Given the description of an element on the screen output the (x, y) to click on. 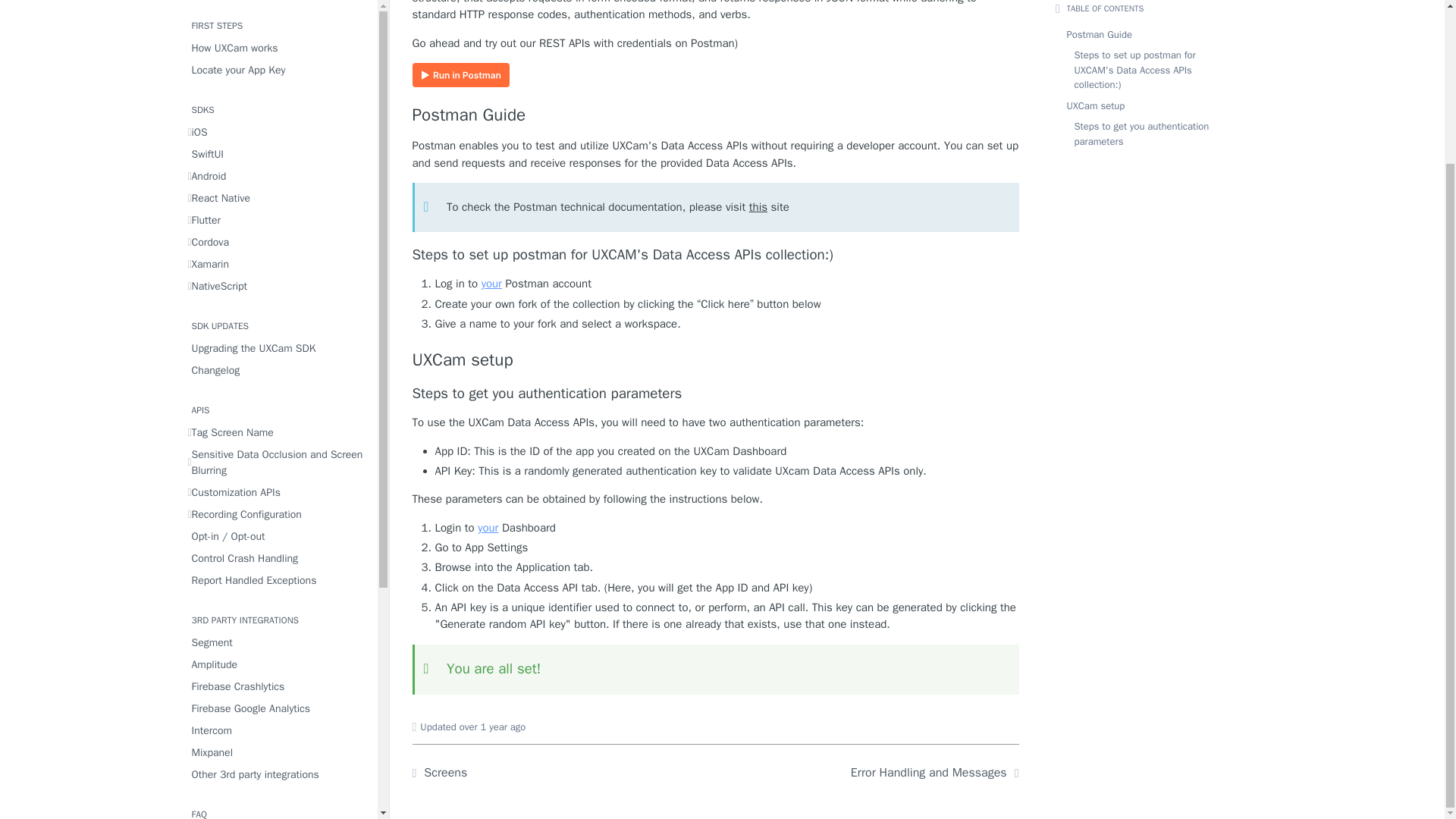
UXCam setup (715, 360)
Flutter (277, 95)
React Native (277, 73)
NativeScript (277, 161)
Android (277, 51)
iOS (277, 9)
Postman Guide (715, 115)
Upgrading the UXCam SDK (277, 223)
Changelog (277, 245)
Cordova (277, 117)
SwiftUI (277, 29)
Tag Screen Name (277, 308)
Xamarin (277, 139)
Steps to get you authentication parameters (715, 393)
